Given the description of an element on the screen output the (x, y) to click on. 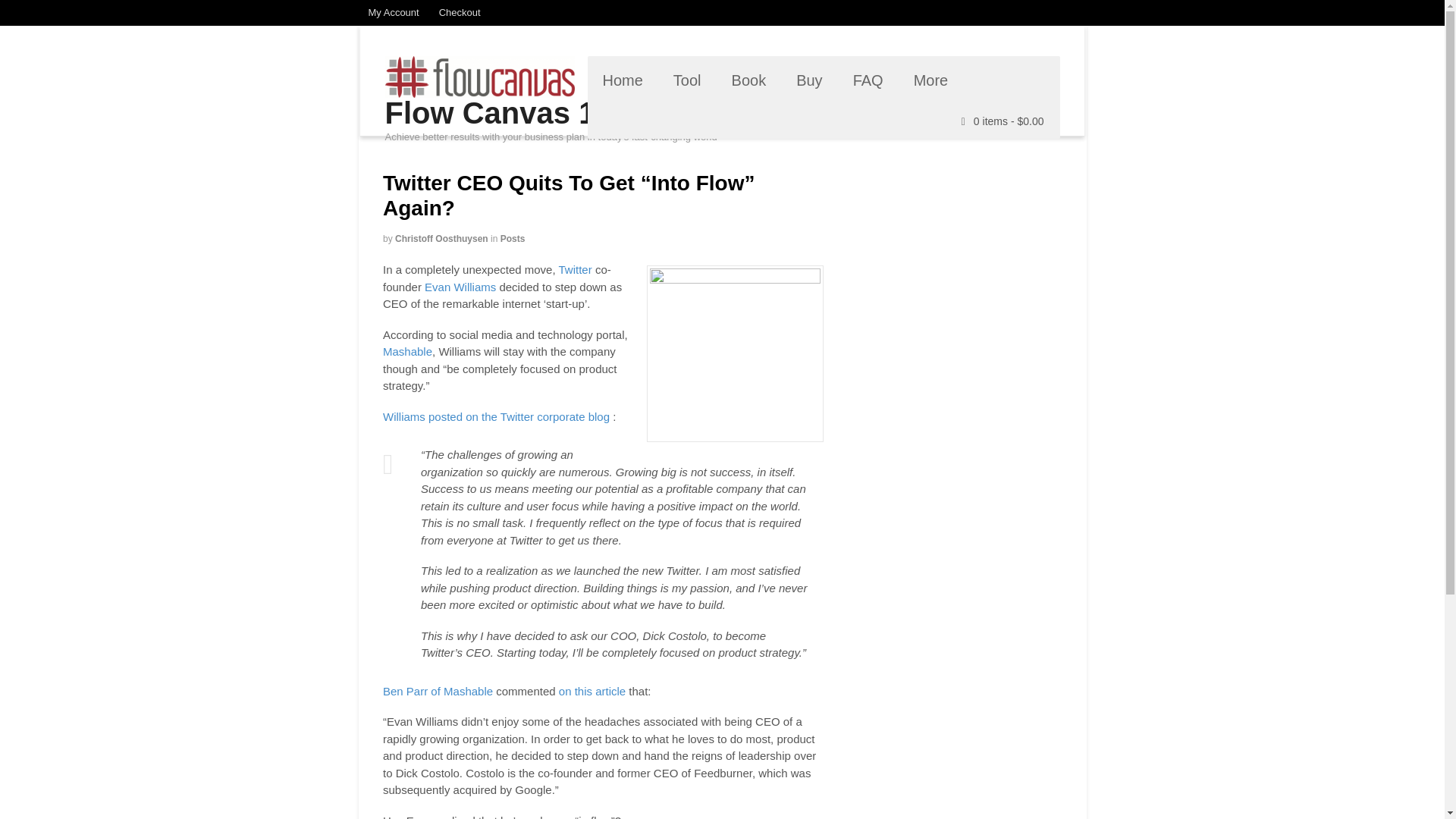
Buy (808, 80)
Book (748, 80)
Posts by Christoff Oosthuysen (440, 238)
on this article (592, 690)
Checkout (459, 12)
Home (622, 80)
Evan Williams (460, 286)
FAQ (868, 80)
View all items in Posts (512, 238)
More (930, 80)
